Given the description of an element on the screen output the (x, y) to click on. 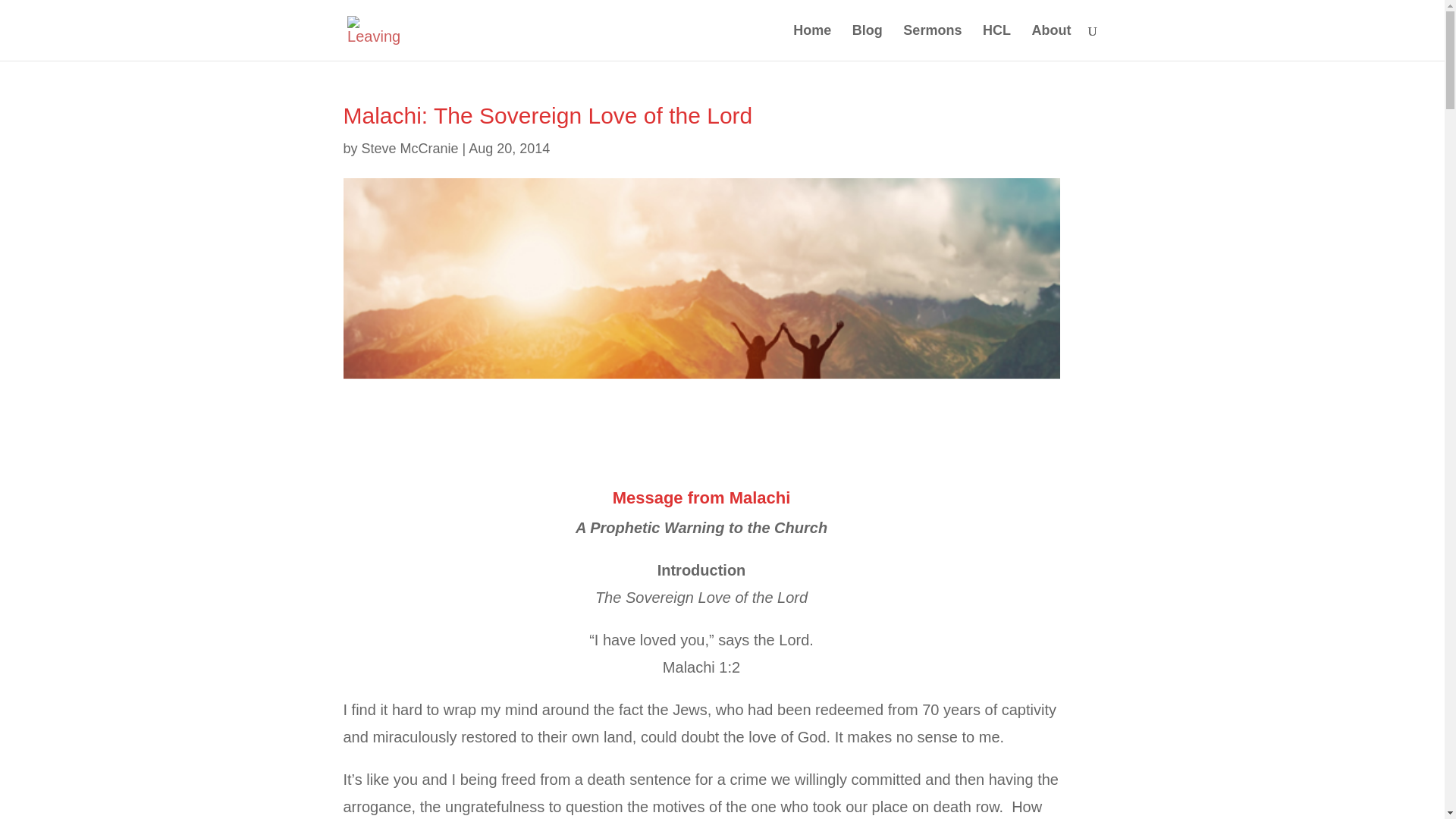
Steve McCranie (409, 148)
Posts by Steve McCranie (409, 148)
About (1051, 42)
Home (812, 42)
Sermons (931, 42)
